Given the description of an element on the screen output the (x, y) to click on. 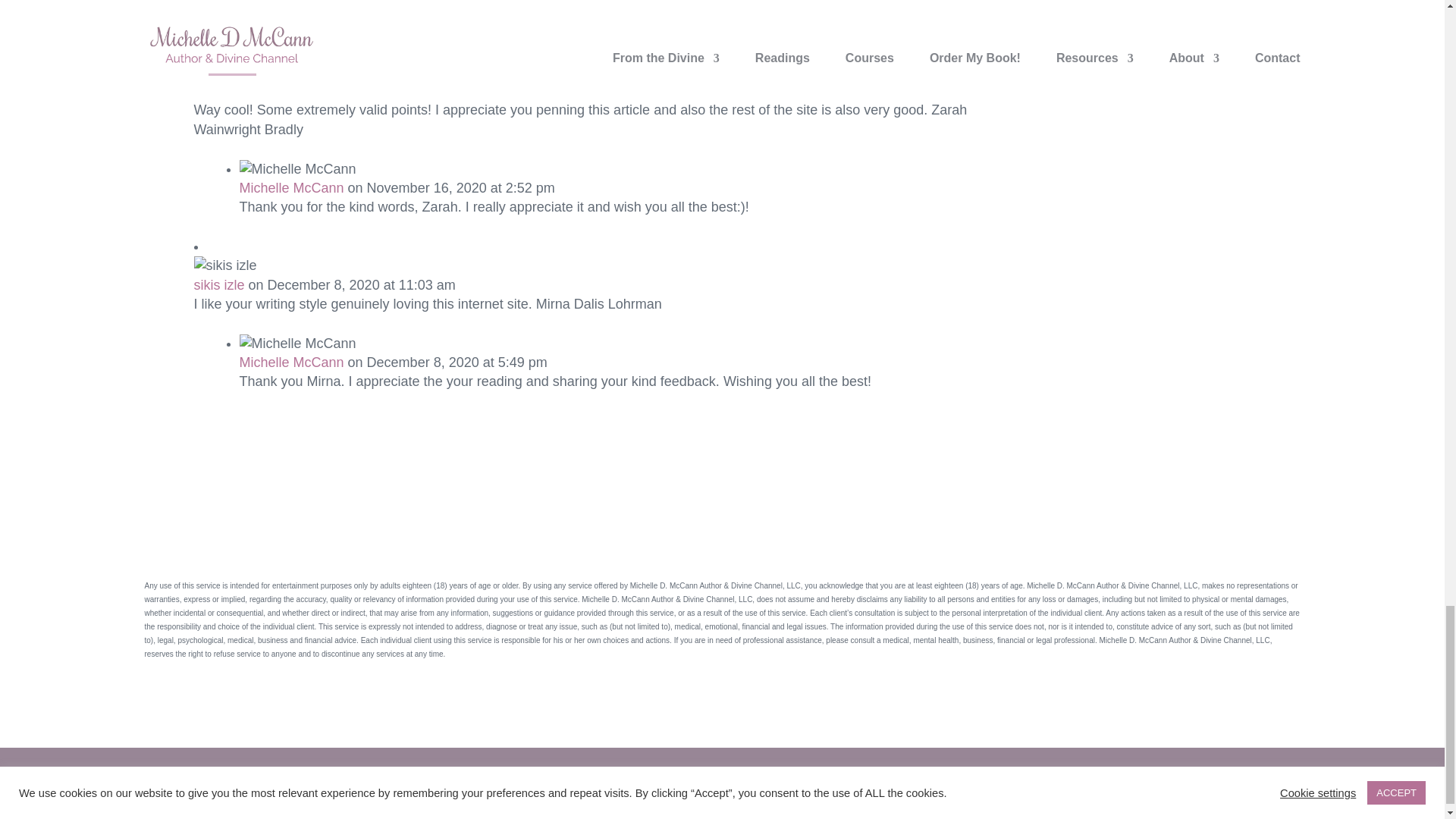
sikis izle (218, 284)
erotik izle (222, 90)
Michelle McCann (291, 362)
Michelle McCann (291, 187)
